Given the description of an element on the screen output the (x, y) to click on. 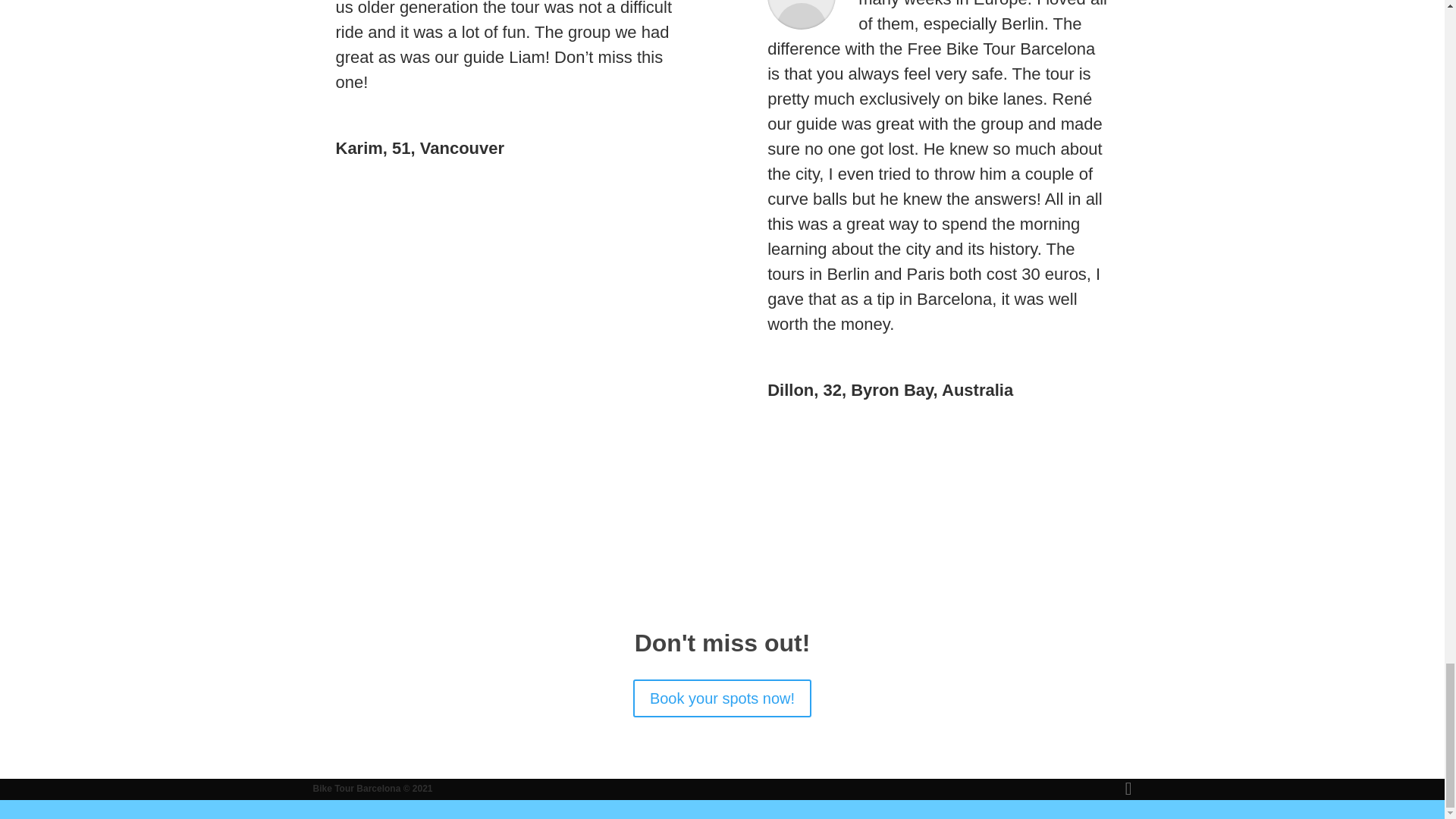
Book your spots now! (721, 698)
